Given the description of an element on the screen output the (x, y) to click on. 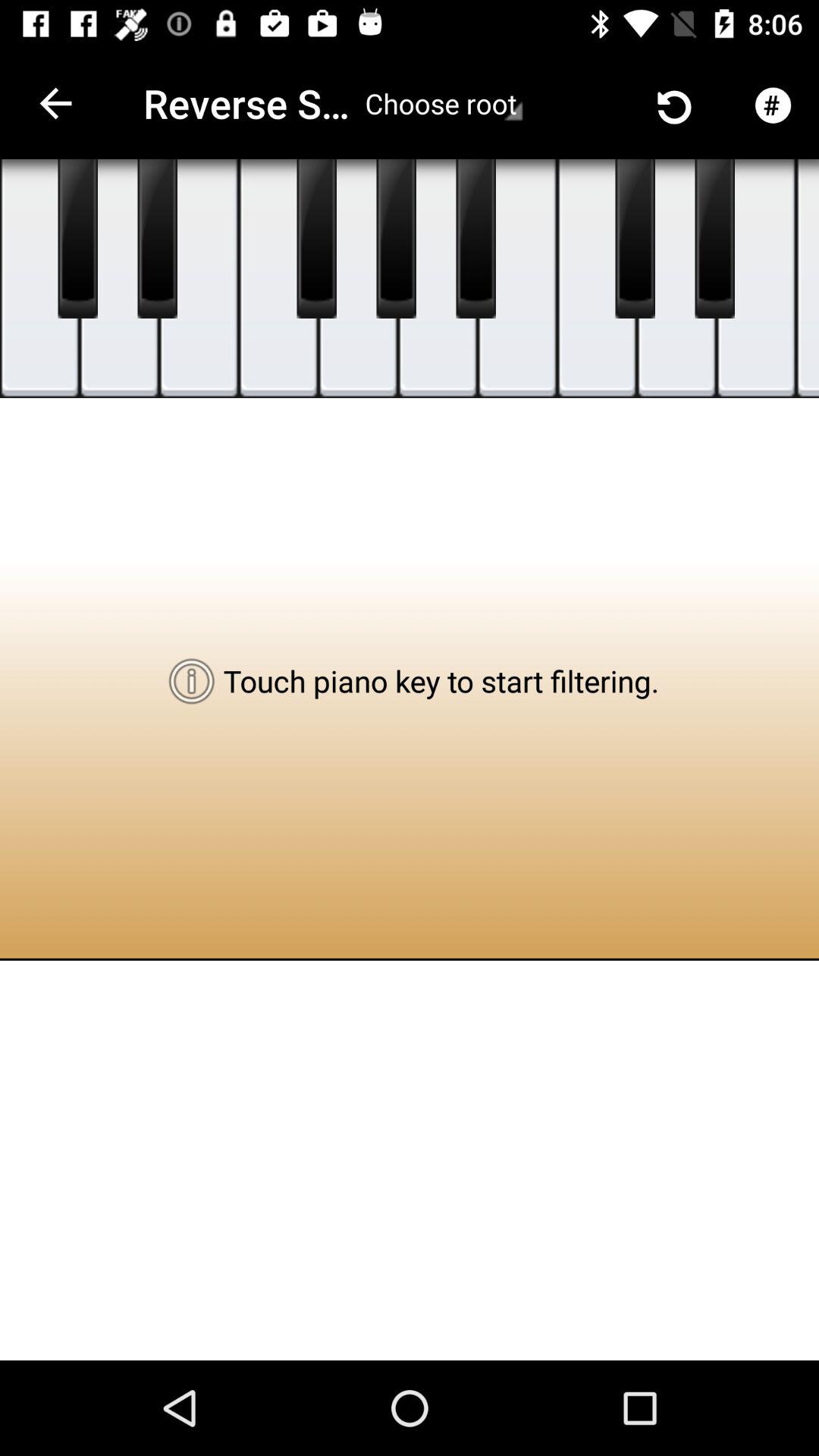
key play (437, 278)
